Given the description of an element on the screen output the (x, y) to click on. 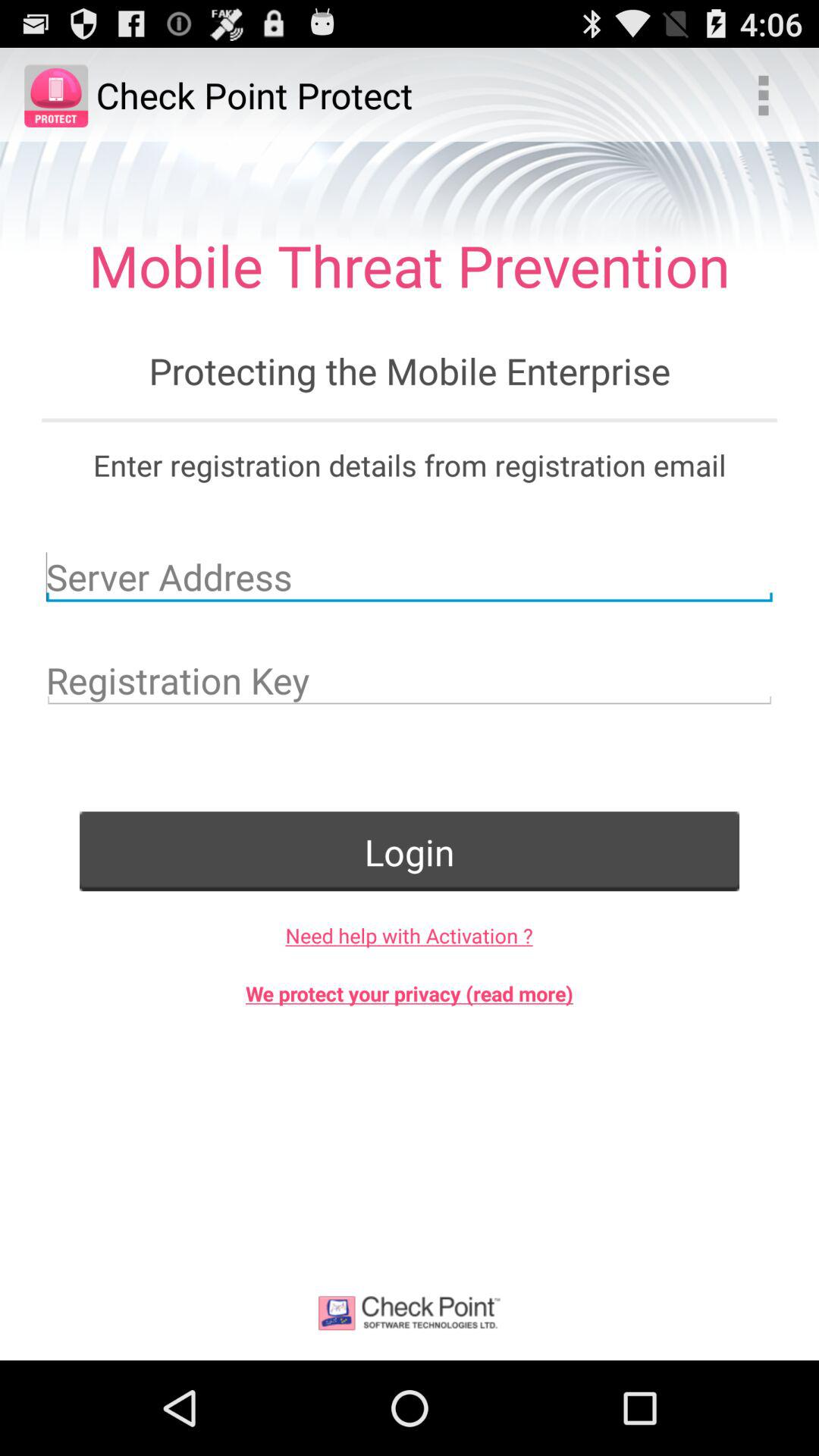
enter the address for the server (409, 576)
